Given the description of an element on the screen output the (x, y) to click on. 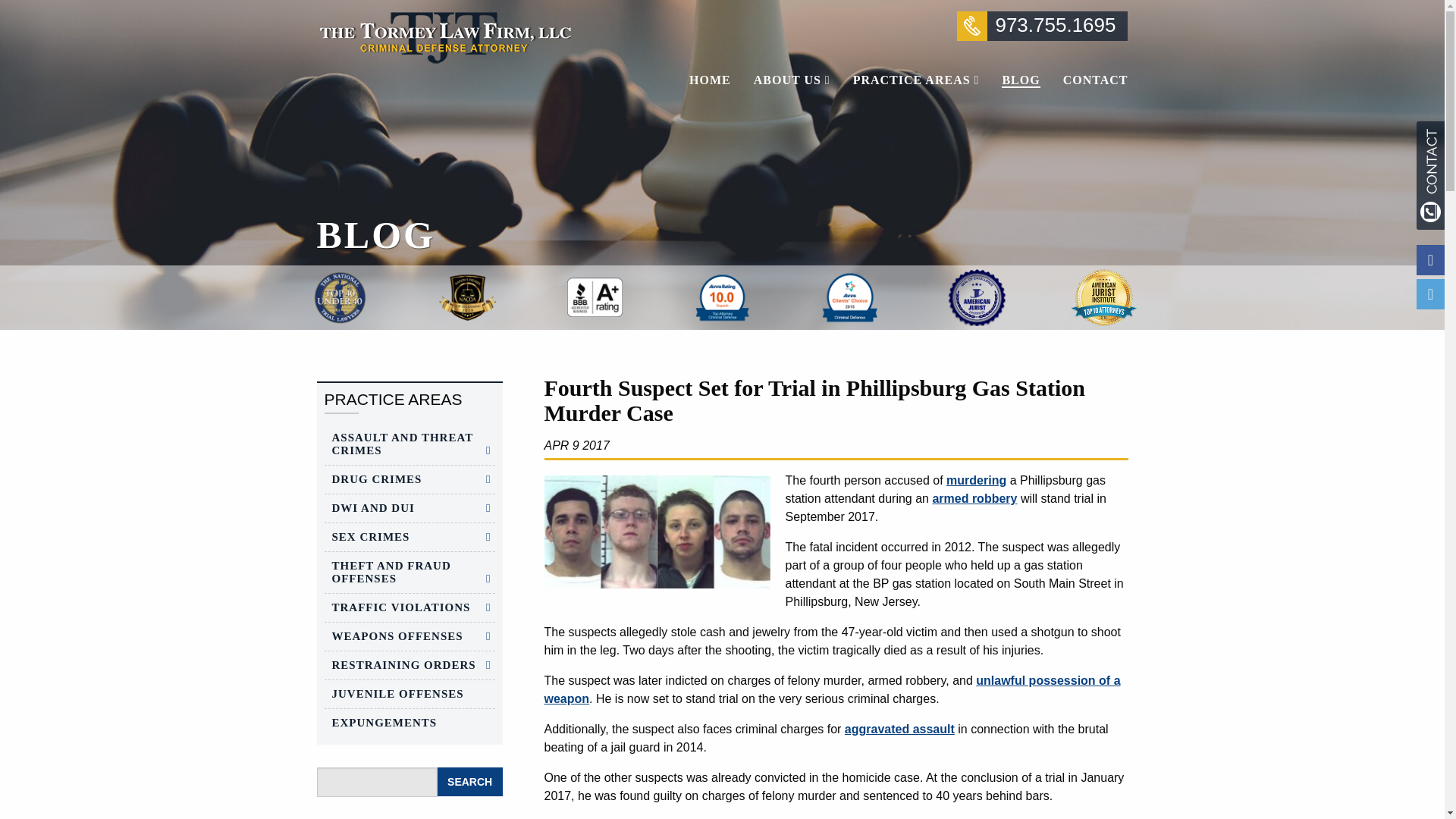
Phillipsburg Murder Suspects (657, 531)
CONTACT (1089, 79)
973.755.1695 (1041, 25)
HOME (715, 79)
murdering (976, 480)
Search (470, 781)
PRACTICE AREAS (916, 79)
aggravated assault (899, 728)
BLOG (1020, 79)
armed robbery (973, 498)
ASSAULT AND THREAT CRIMES (409, 444)
ABOUT US (791, 79)
unlawful possession of a weapon (832, 689)
Sussex and Warren County Criminal Defense Lawyers (443, 36)
